Given the description of an element on the screen output the (x, y) to click on. 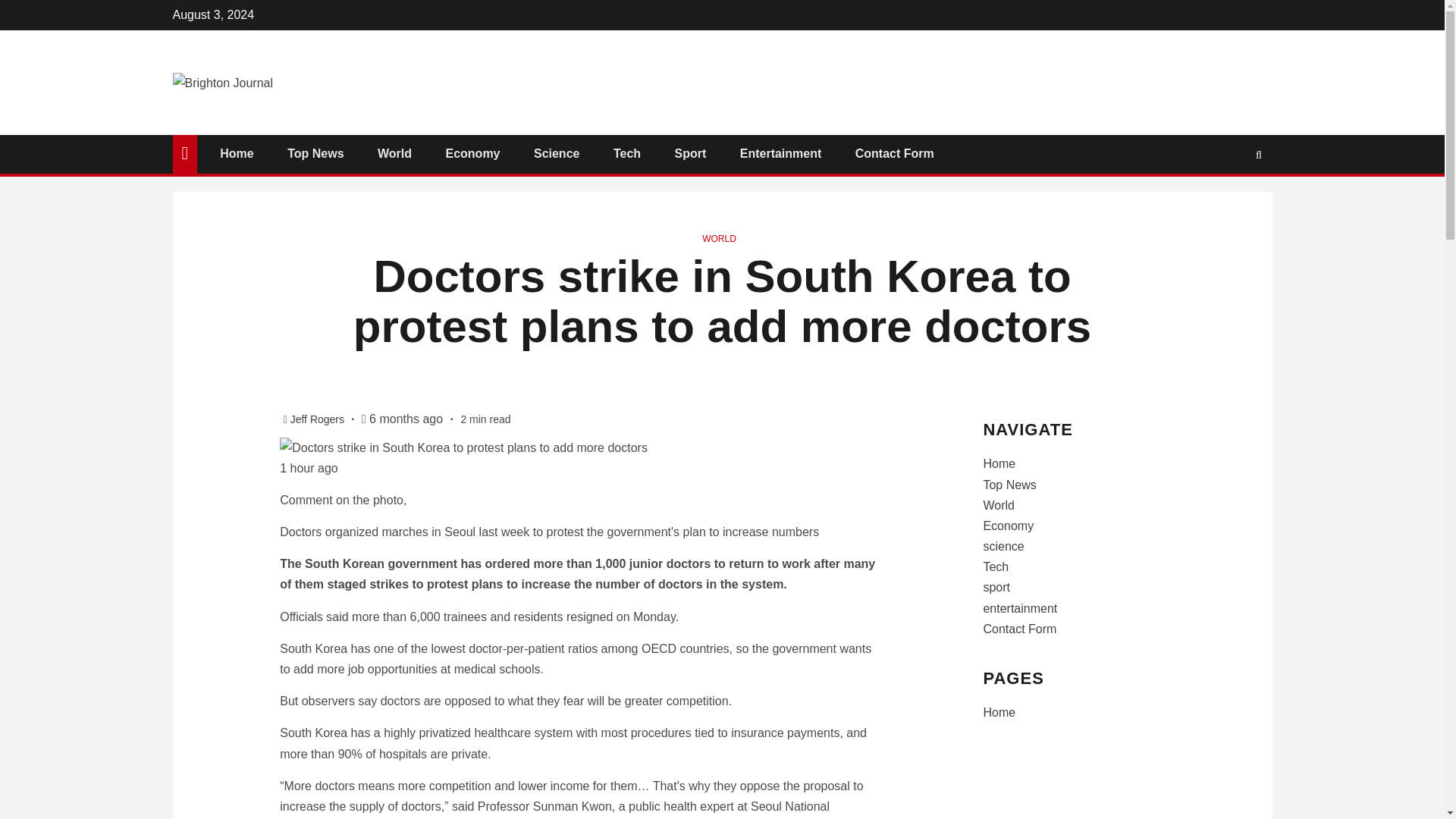
Home (998, 463)
Economy (1007, 525)
WORLD (718, 238)
Top News (314, 153)
Home (236, 153)
Jeff Rogers (318, 419)
Search (1229, 199)
Sport (690, 153)
World (394, 153)
World (998, 504)
